Given the description of an element on the screen output the (x, y) to click on. 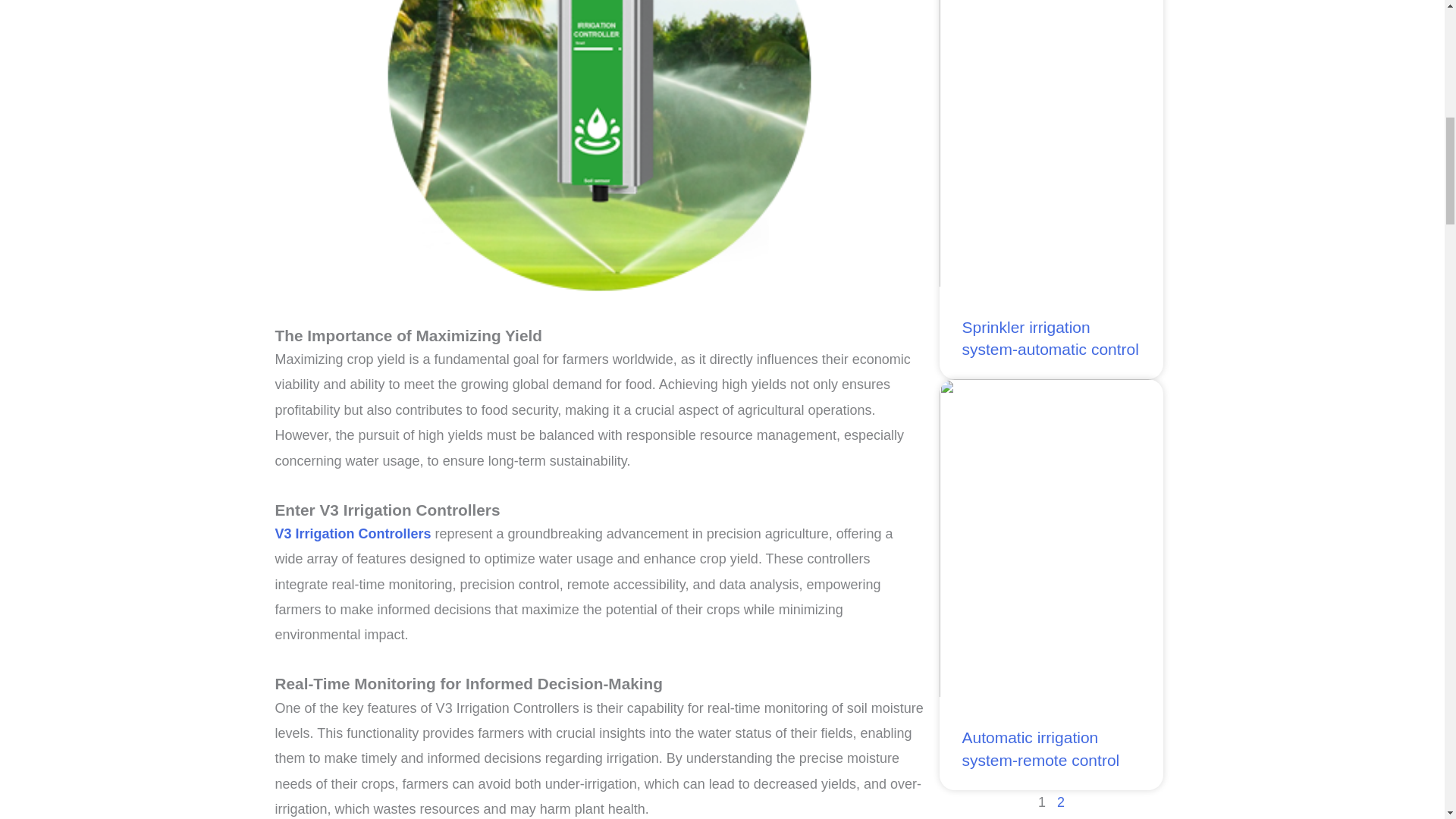
Sprinkler irrigation system-automatic control (1049, 337)
Automatic irrigation system-remote control (1039, 748)
V3 Irrigation Controllers (352, 533)
